Given the description of an element on the screen output the (x, y) to click on. 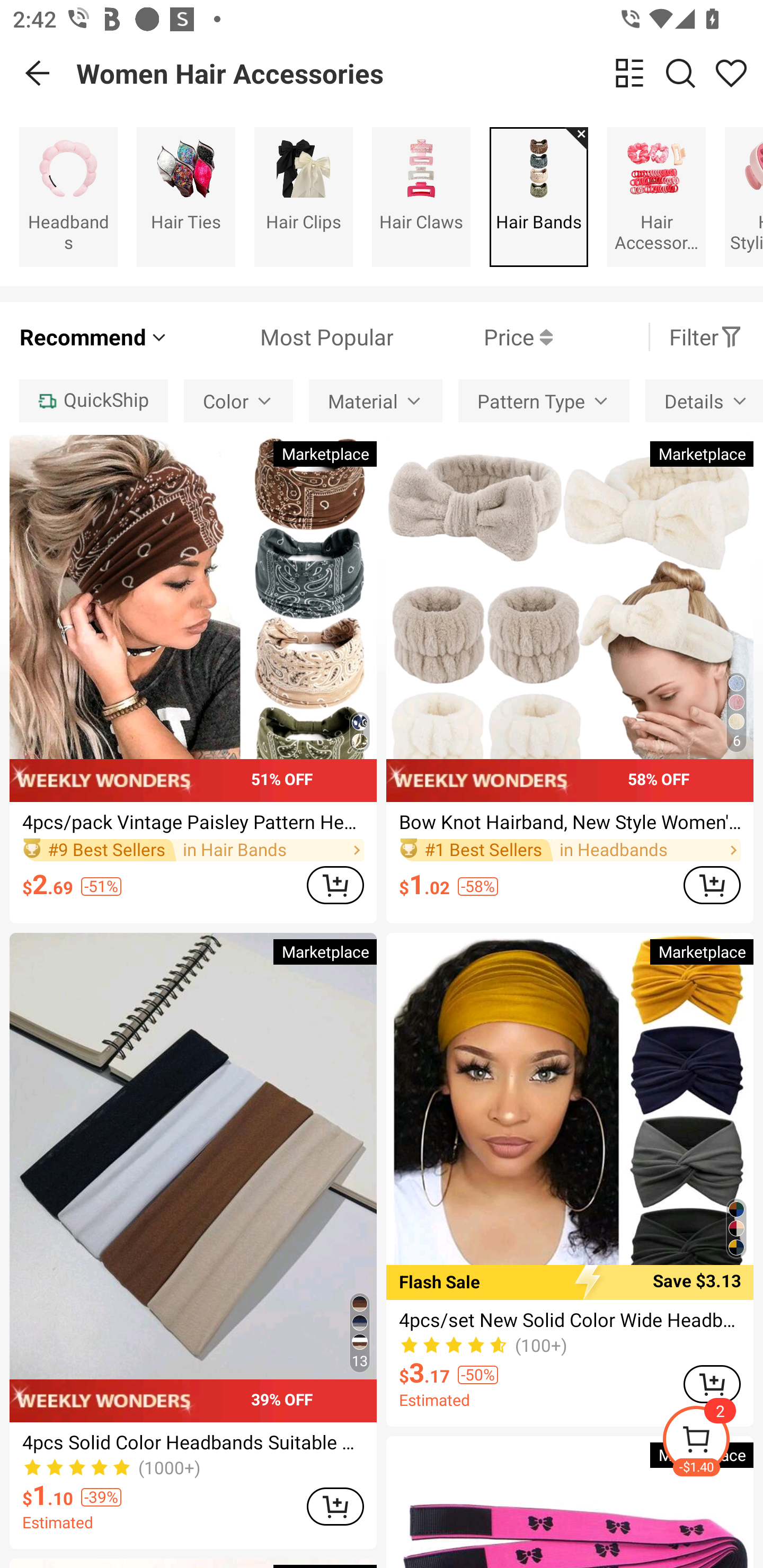
Women Hair Accessories change view Search Share (419, 72)
change view (629, 72)
Search (679, 72)
Share (730, 72)
Headbands (68, 196)
Hair Ties (185, 196)
Hair Clips (303, 196)
Hair Claws (421, 196)
Hair Bands (538, 196)
Hair Accessory Sets (656, 196)
Recommend (94, 336)
Most Popular (280, 336)
Price (472, 336)
Filter (705, 336)
QuickShip (93, 400)
Color (237, 400)
Material (375, 400)
Pattern Type (543, 400)
Details (704, 400)
#9 Best Sellers in Hair Bands (192, 849)
#1 Best Sellers in Headbands (569, 849)
ADD TO CART (334, 884)
ADD TO CART (711, 884)
ADD TO CART (711, 1384)
-$1.40 (712, 1441)
ADD TO CART (334, 1506)
